Given the description of an element on the screen output the (x, y) to click on. 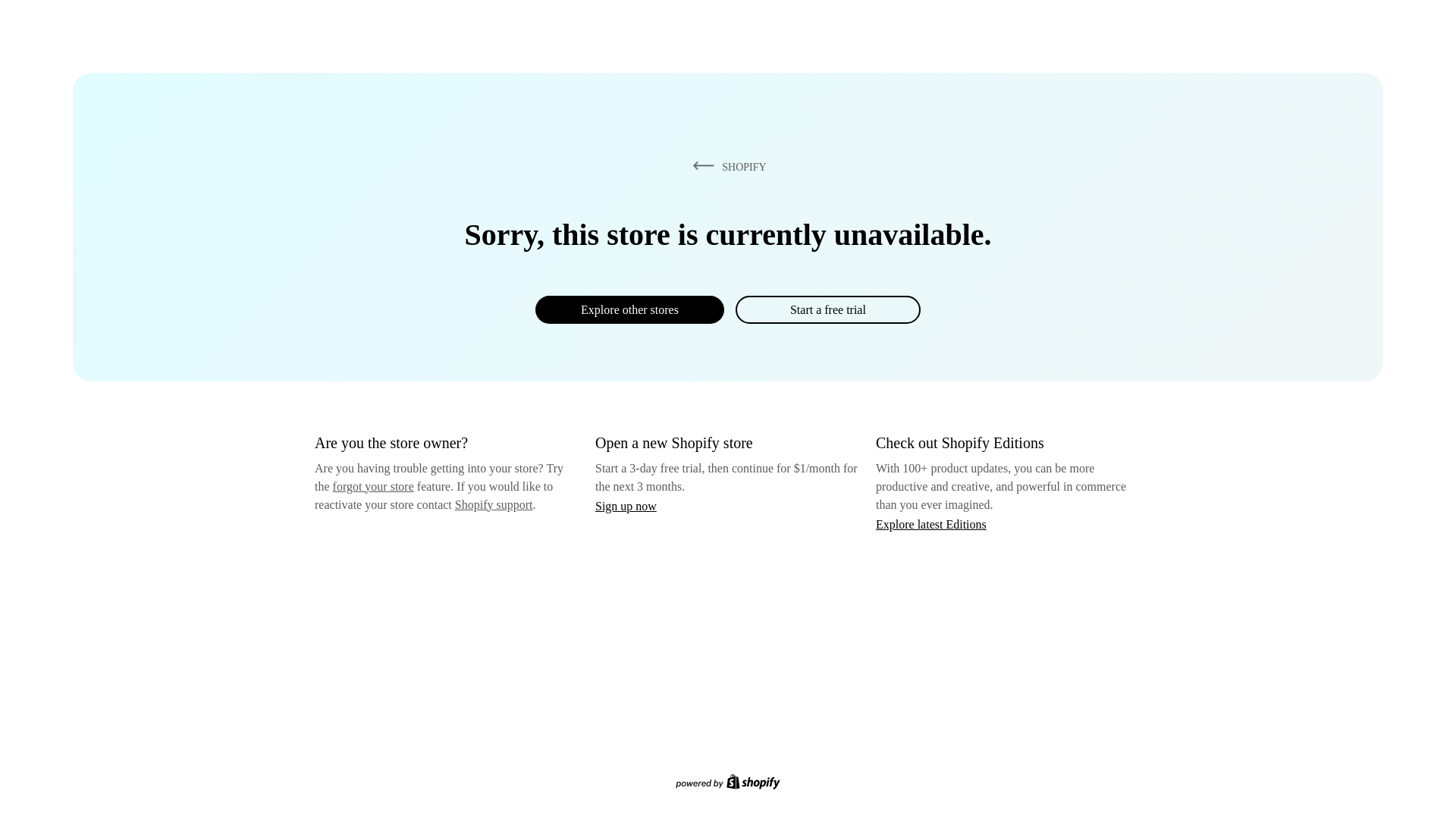
Sign up now (625, 505)
SHOPIFY (726, 166)
forgot your store (373, 486)
Start a free trial (827, 309)
Shopify support (493, 504)
Explore other stores (629, 309)
Explore latest Editions (931, 523)
